Given the description of an element on the screen output the (x, y) to click on. 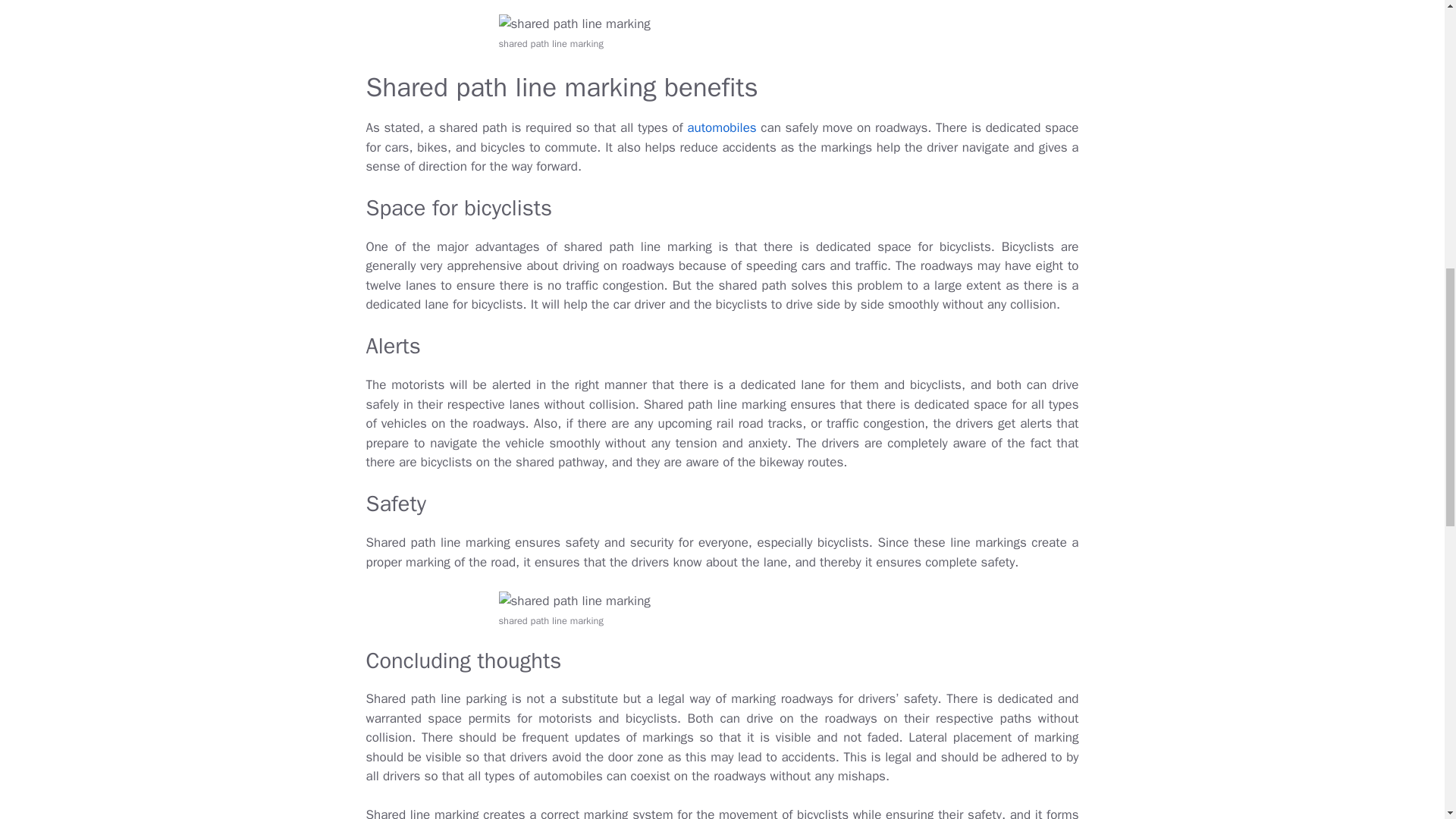
shared path line marking (574, 24)
shared path line marking (574, 600)
Scroll back to top (1406, 720)
